Given the description of an element on the screen output the (x, y) to click on. 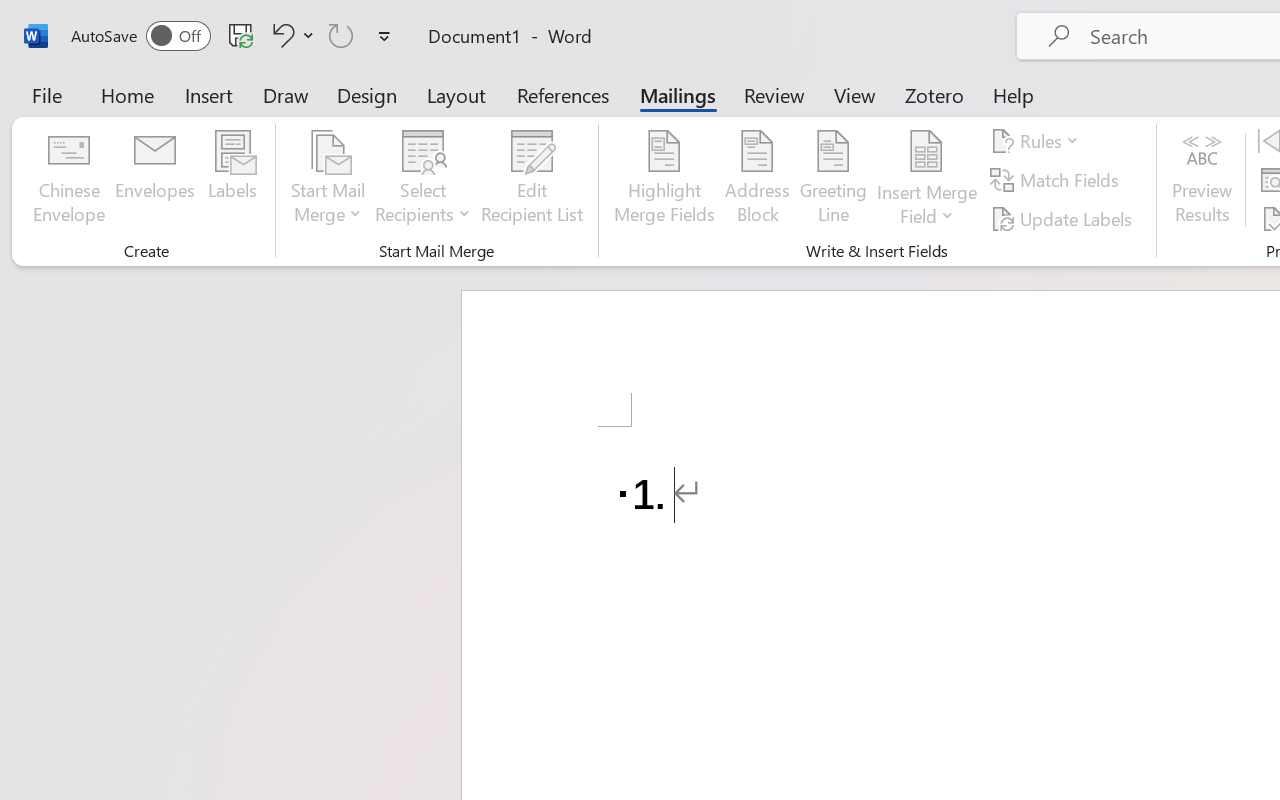
Start Mail Merge (328, 179)
Undo Number Default (290, 35)
Greeting Line... (833, 179)
Labels... (232, 179)
Address Block... (757, 179)
Rules (1037, 141)
Undo Number Default (280, 35)
Insert Merge Field (927, 179)
Preview Results (1202, 179)
